Given the description of an element on the screen output the (x, y) to click on. 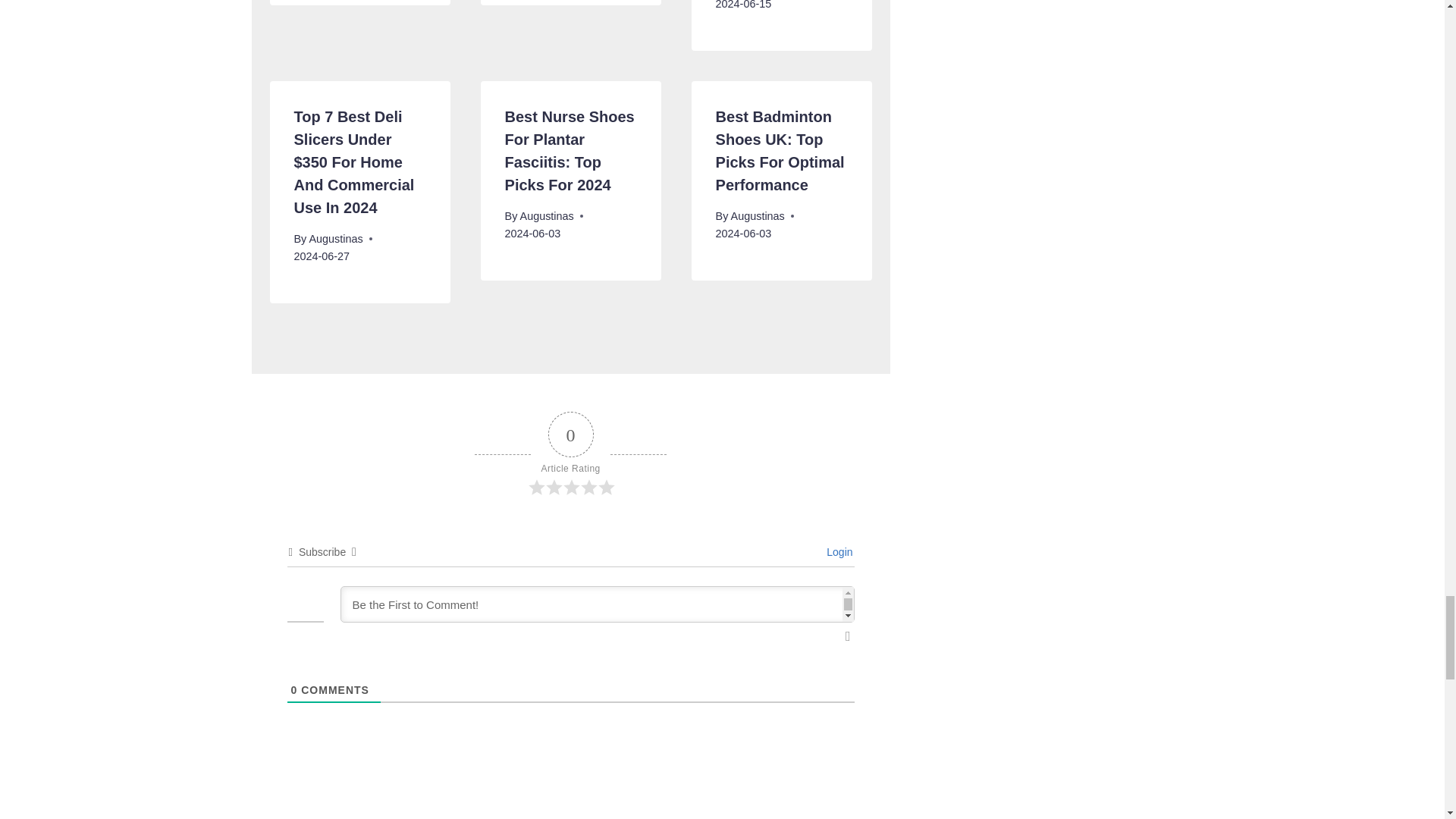
0 (294, 689)
